Given the description of an element on the screen output the (x, y) to click on. 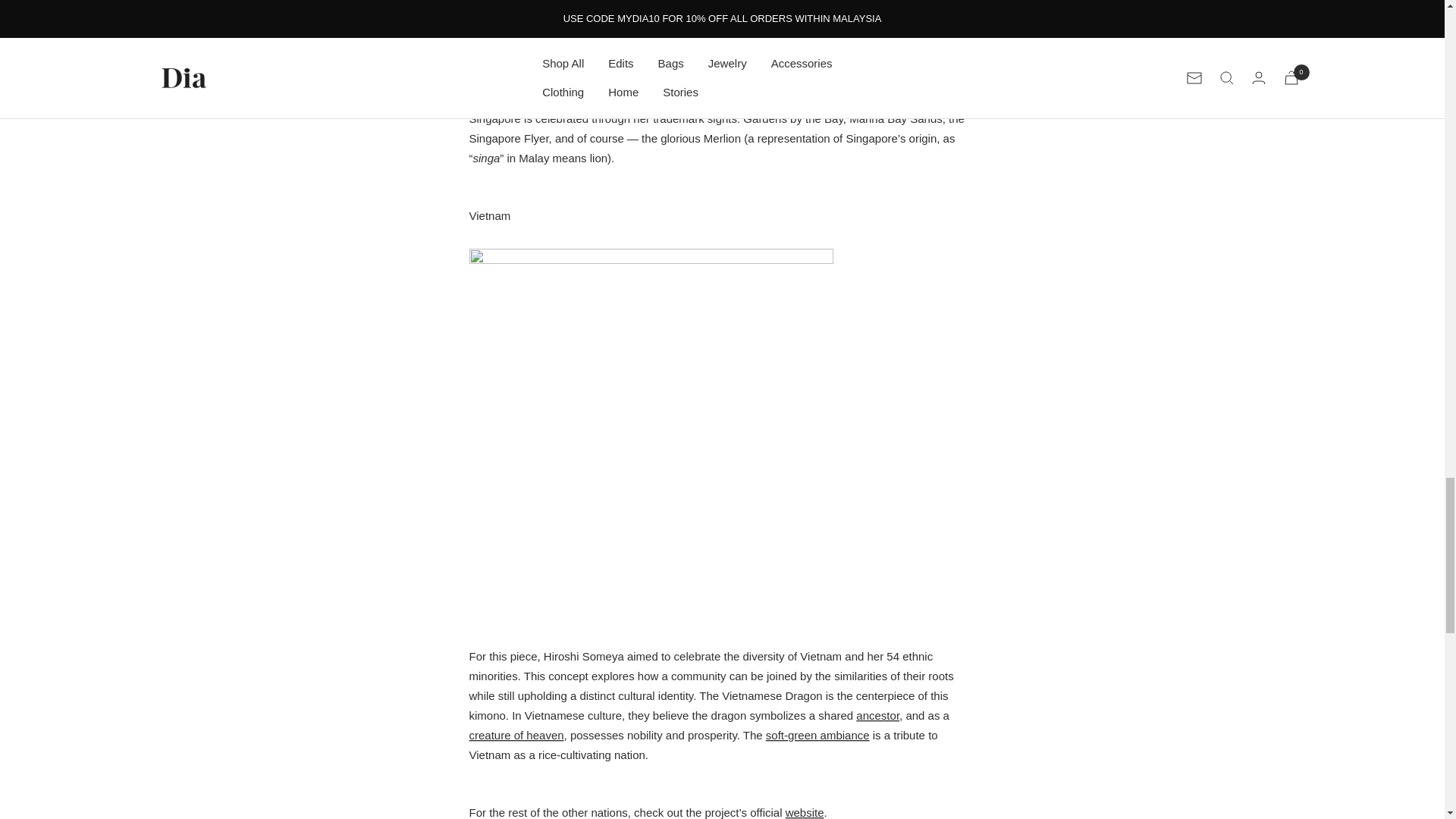
soft-green ambiance (817, 735)
artwork (764, 98)
creature of heaven (515, 735)
ancestor (877, 715)
